Given the description of an element on the screen output the (x, y) to click on. 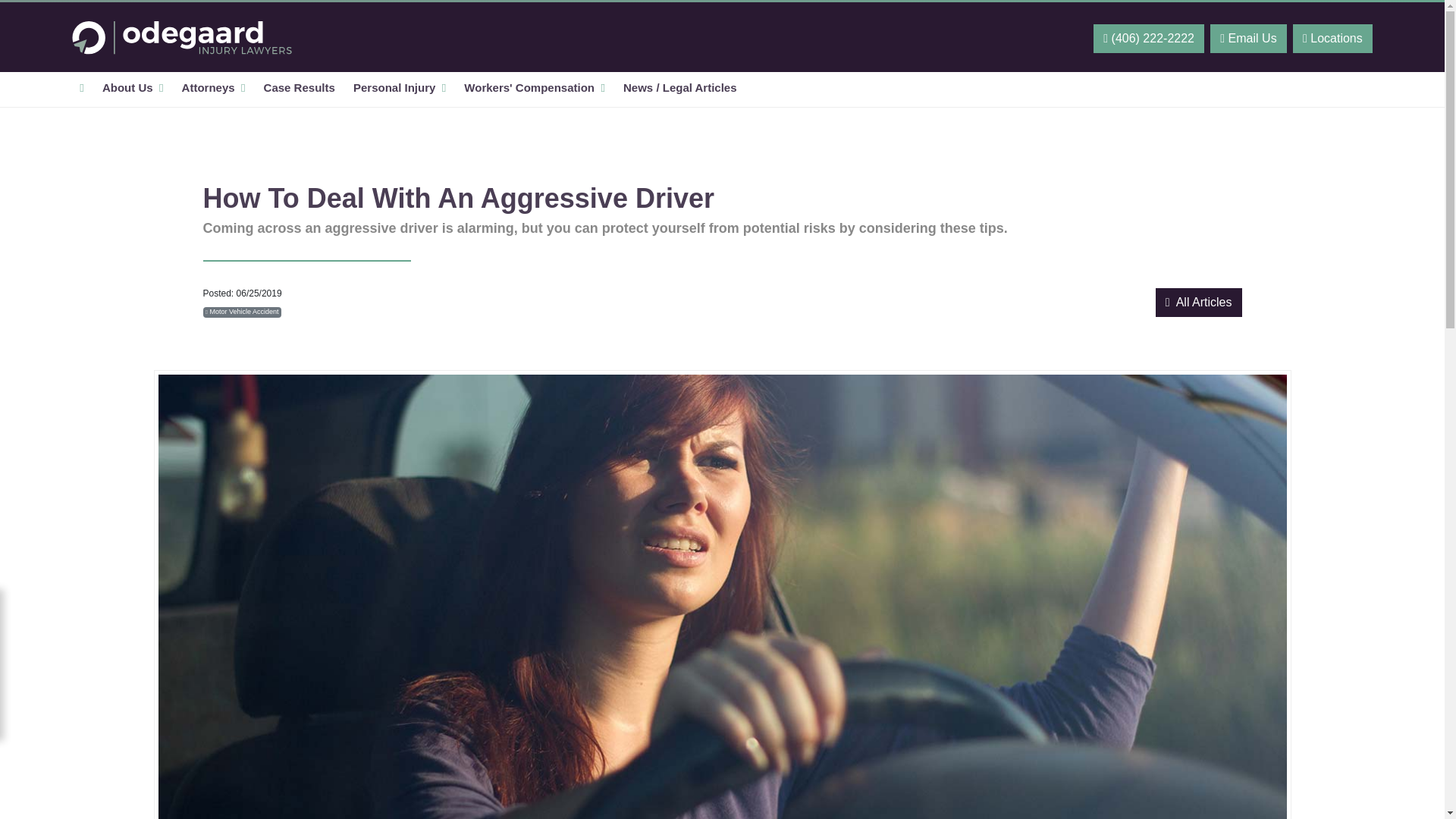
Case Results (299, 89)
 Locations (1332, 38)
 Email Us (1247, 38)
Personal Injury   (399, 89)
About Us   (132, 89)
How to Deal with an Aggressive Driver (181, 36)
Attorneys   (213, 89)
